Given the description of an element on the screen output the (x, y) to click on. 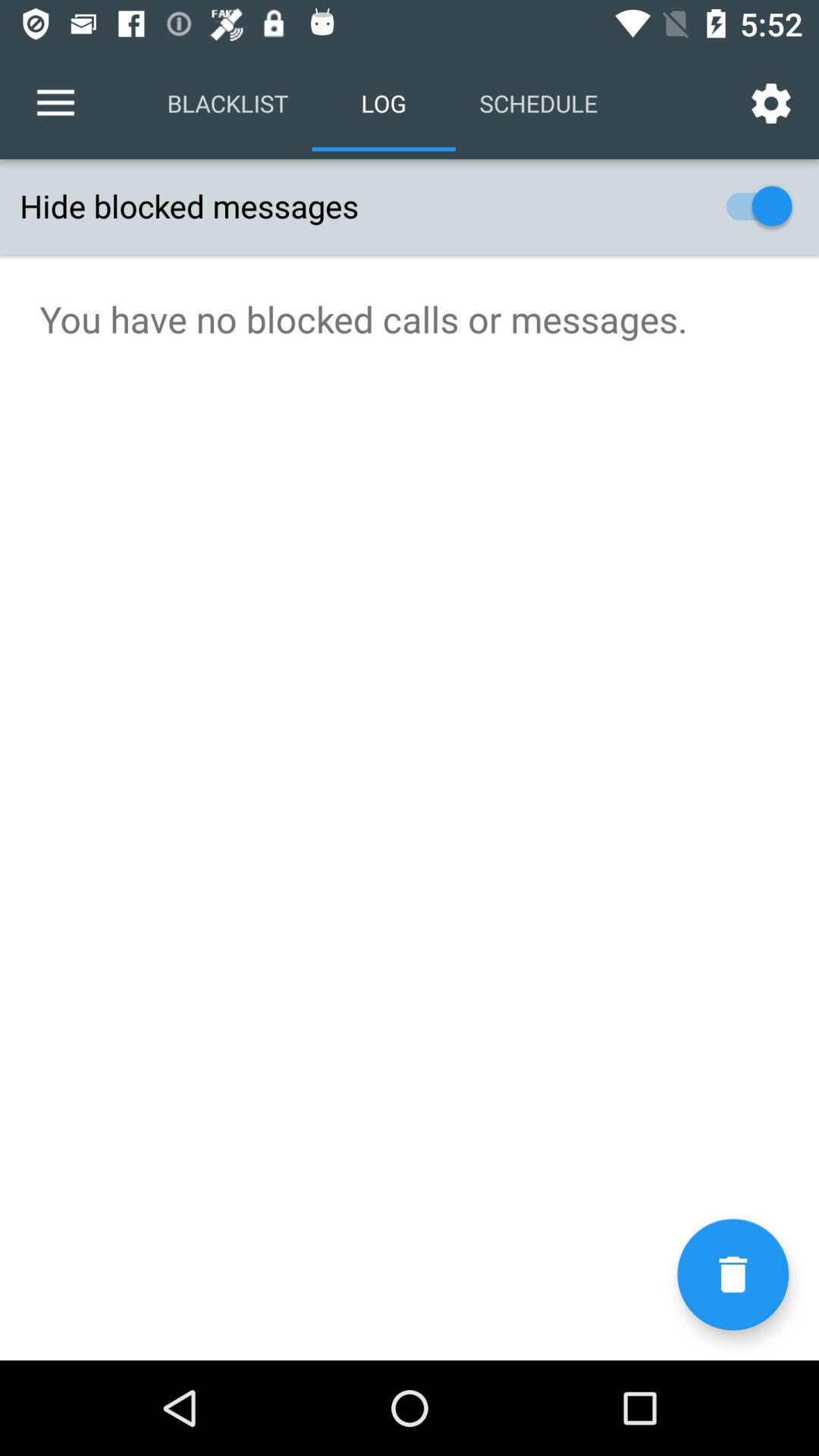
click the icon below you have no icon (732, 1274)
